Given the description of an element on the screen output the (x, y) to click on. 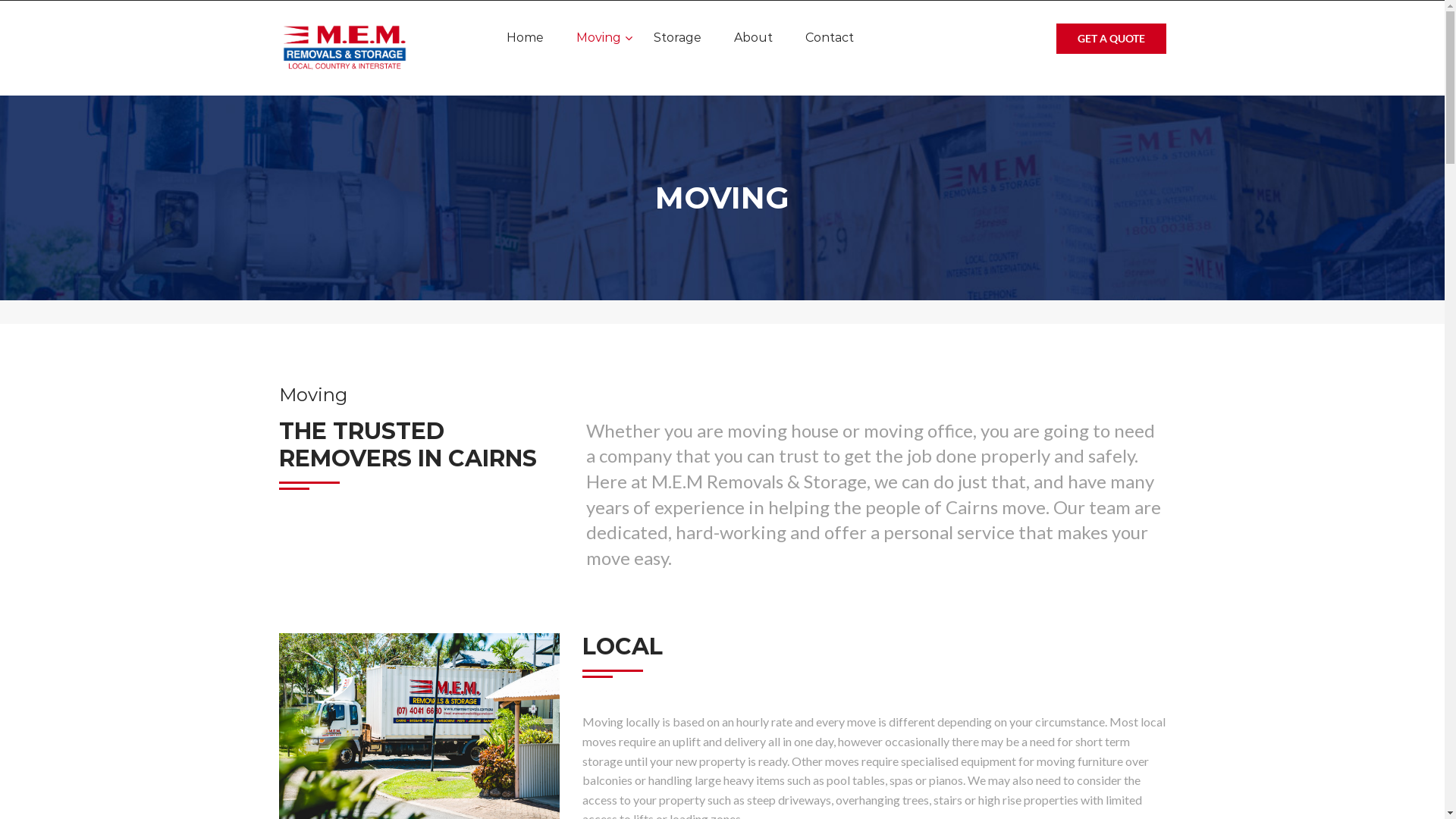
Packing Element type: text (696, 231)
Car Transport Element type: text (710, 316)
About Element type: text (753, 37)
Home Element type: text (524, 37)
Moving Element type: text (598, 37)
Insurance Element type: text (701, 273)
Storage Element type: text (677, 37)
GET A QUOTE Element type: text (1110, 38)
Contact Element type: text (829, 37)
Local Element type: text (689, 103)
Business Relocation Element type: text (725, 188)
Interstate Element type: text (702, 146)
